Given the description of an element on the screen output the (x, y) to click on. 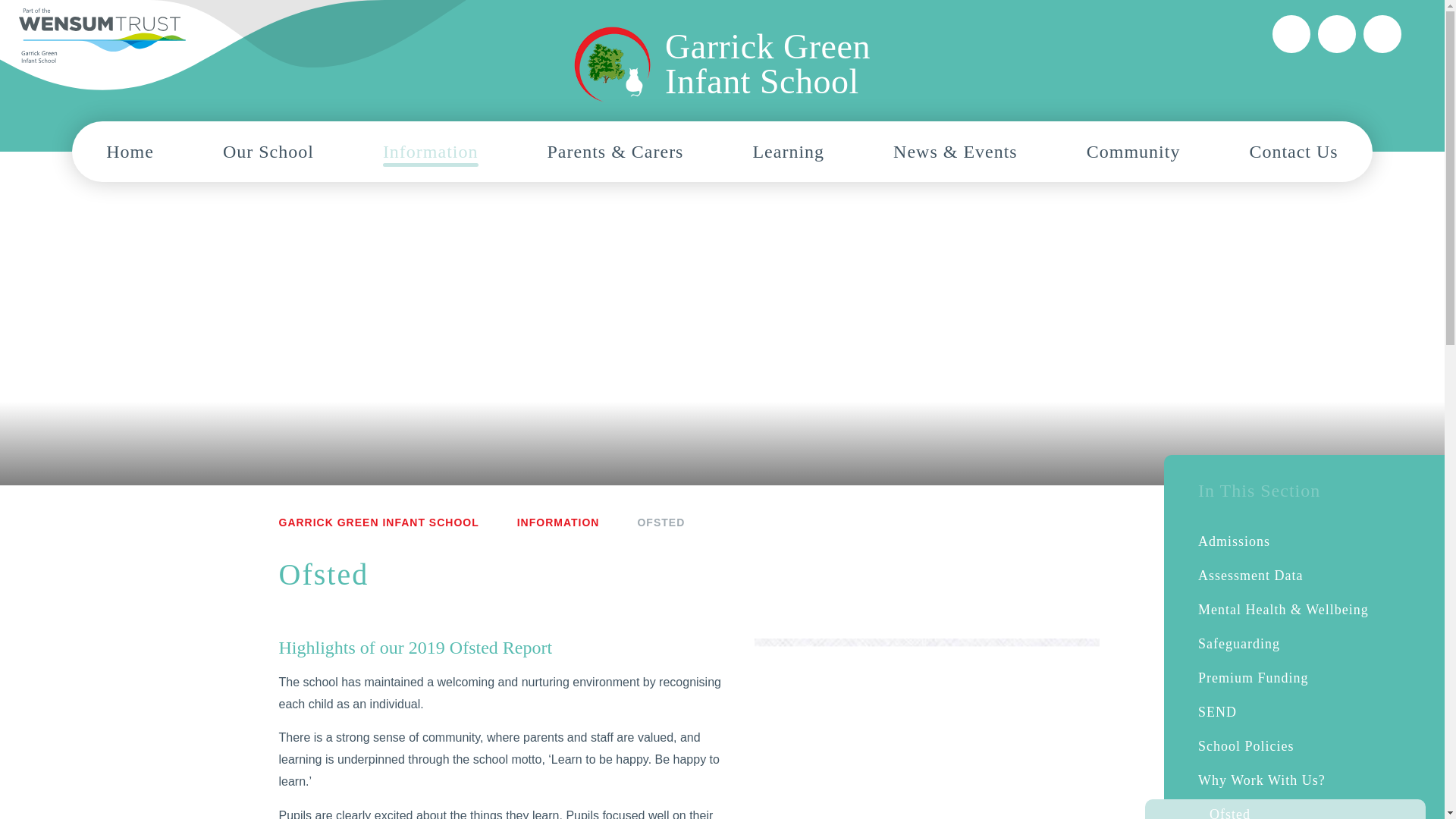
Information (430, 151)
Wensum Trust (102, 36)
Our School (268, 151)
Home (721, 64)
